Given the description of an element on the screen output the (x, y) to click on. 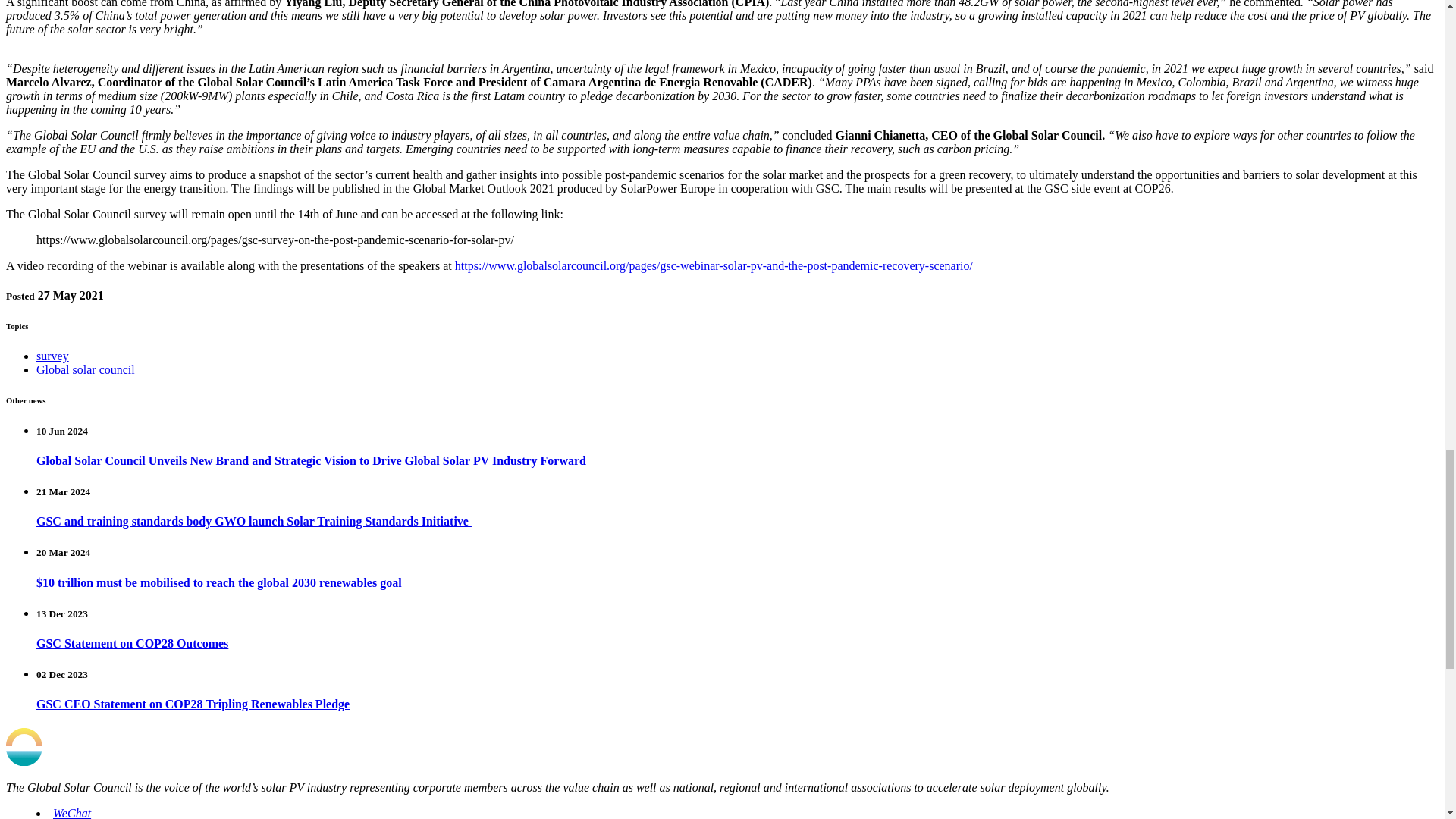
Global solar council (85, 369)
survey (52, 355)
GSC CEO Statement on COP28 Tripling Renewables Pledge (192, 703)
GSC Statement on COP28 Outcomes (132, 643)
WeChat (71, 812)
